Given the description of an element on the screen output the (x, y) to click on. 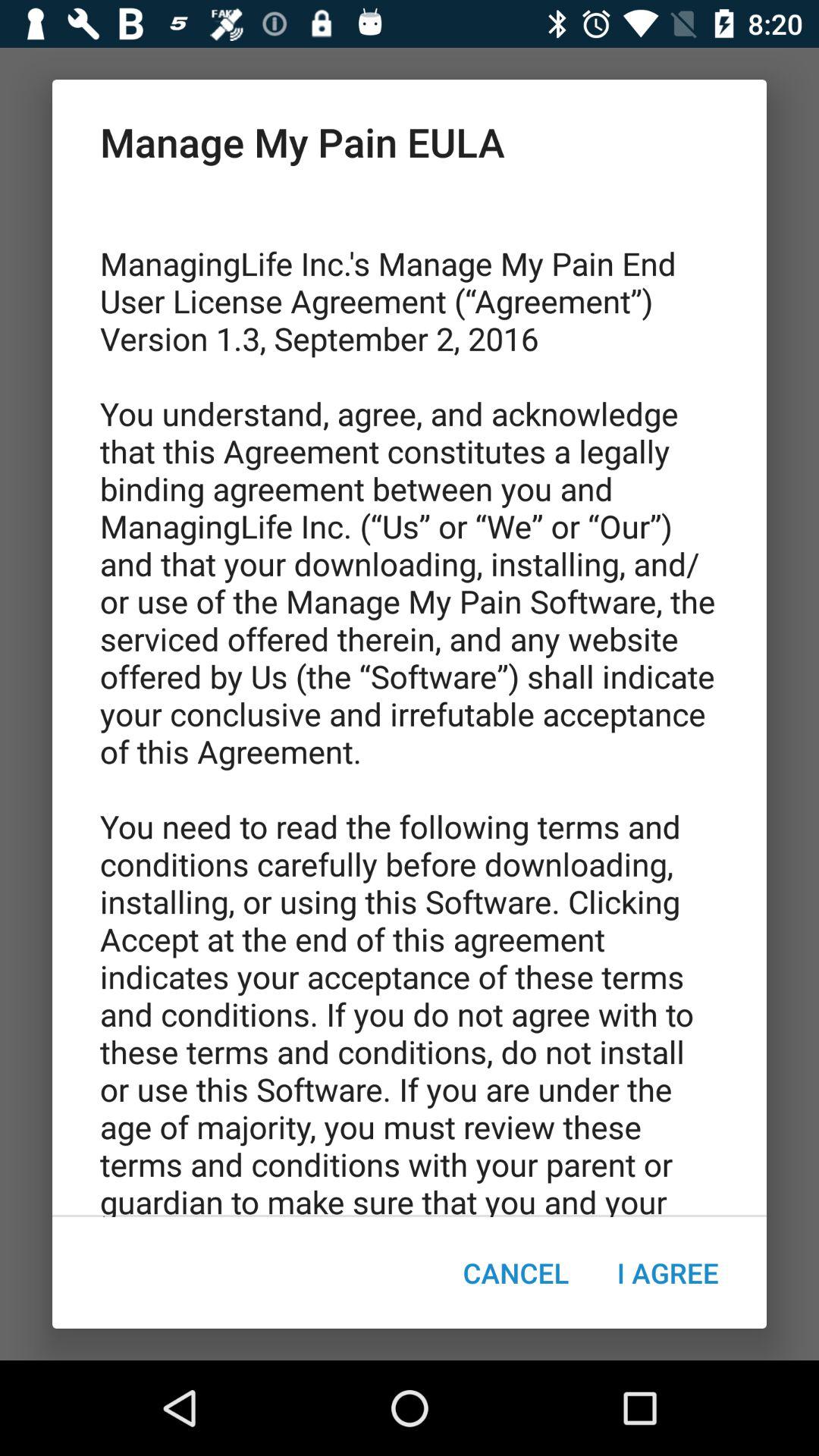
choose the icon at the bottom right corner (667, 1272)
